Given the description of an element on the screen output the (x, y) to click on. 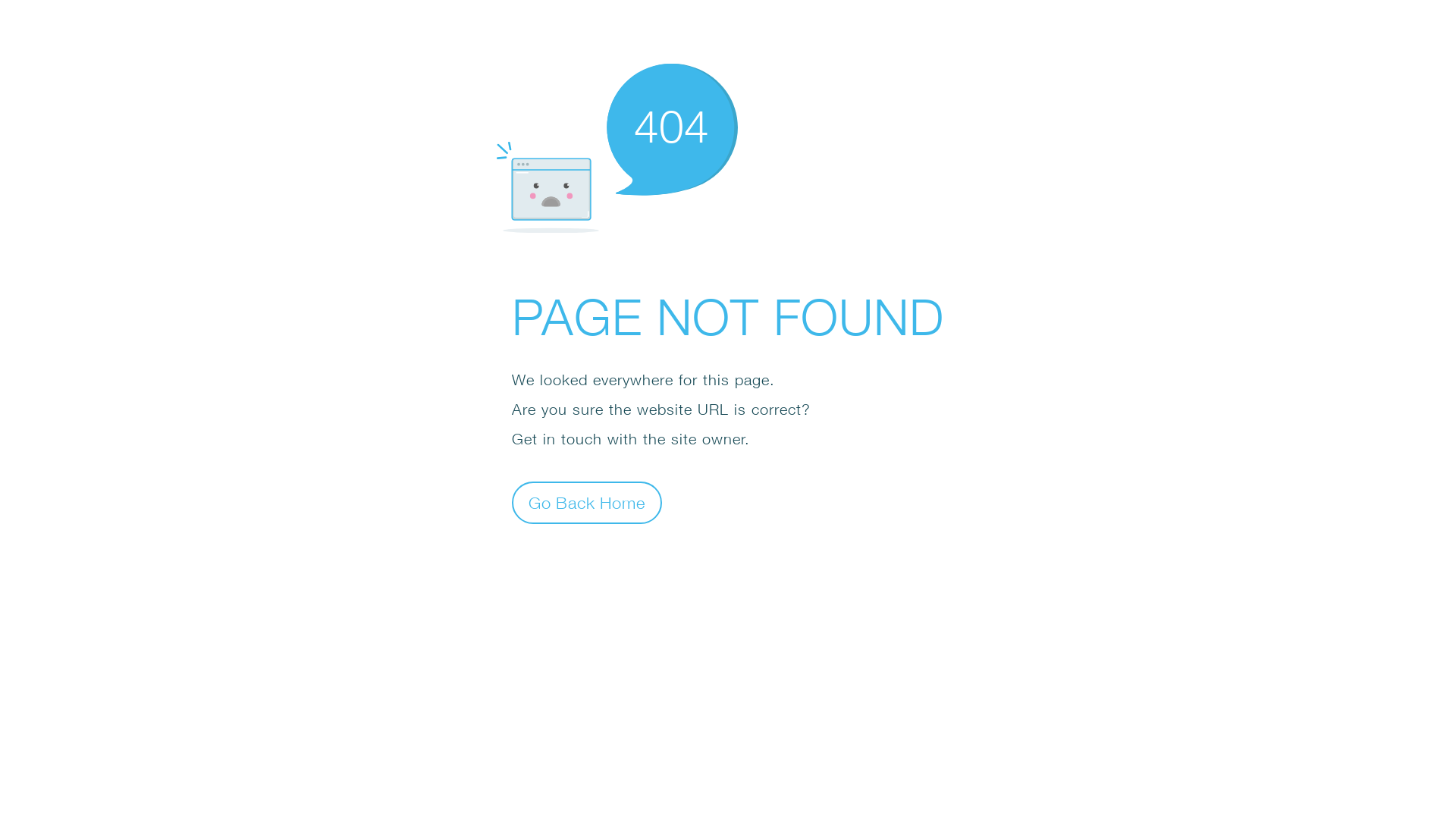
Go Back Home Element type: text (586, 502)
